Given the description of an element on the screen output the (x, y) to click on. 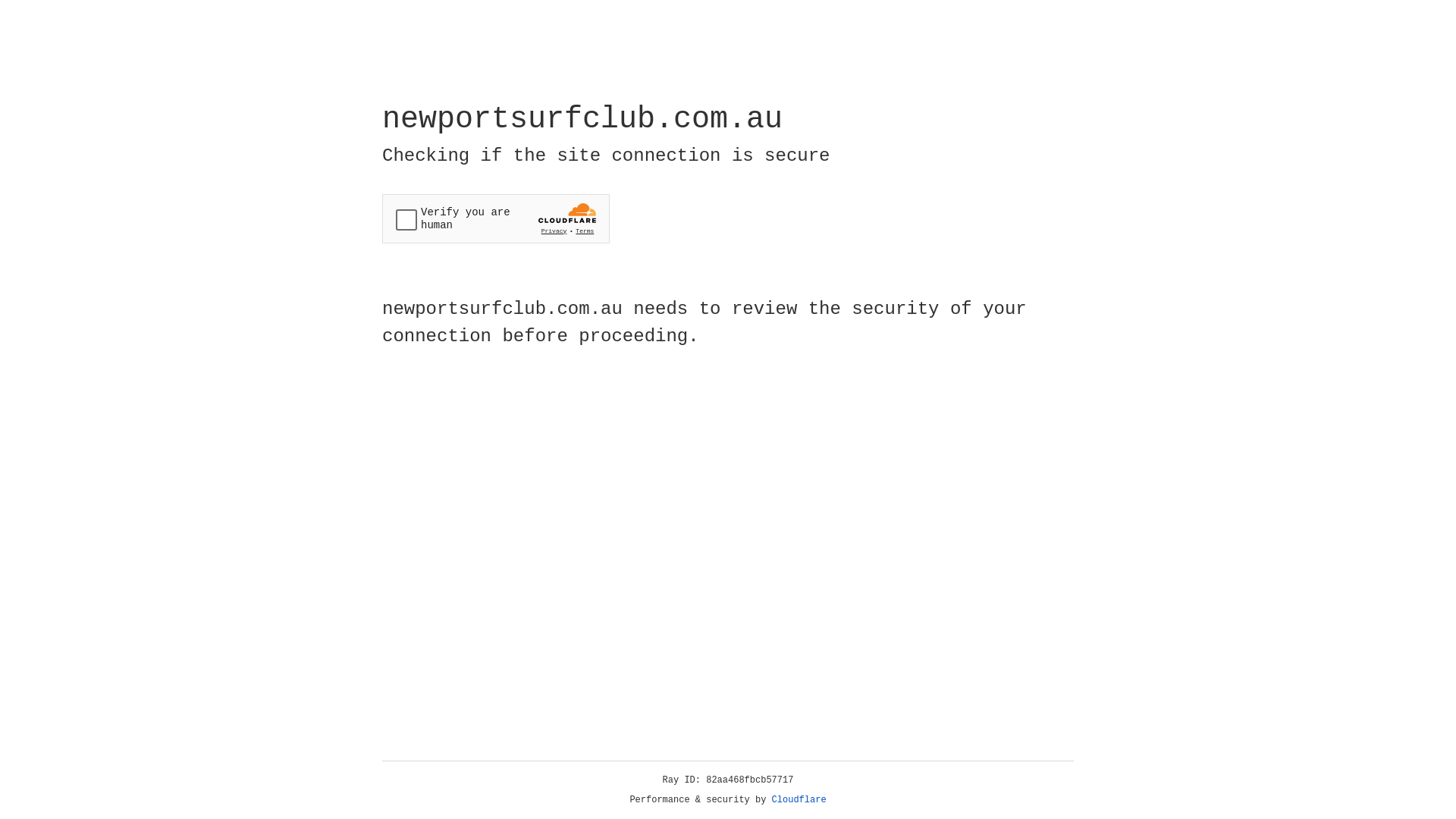
Cloudflare Element type: text (798, 799)
Widget containing a Cloudflare security challenge Element type: hover (495, 218)
